Given the description of an element on the screen output the (x, y) to click on. 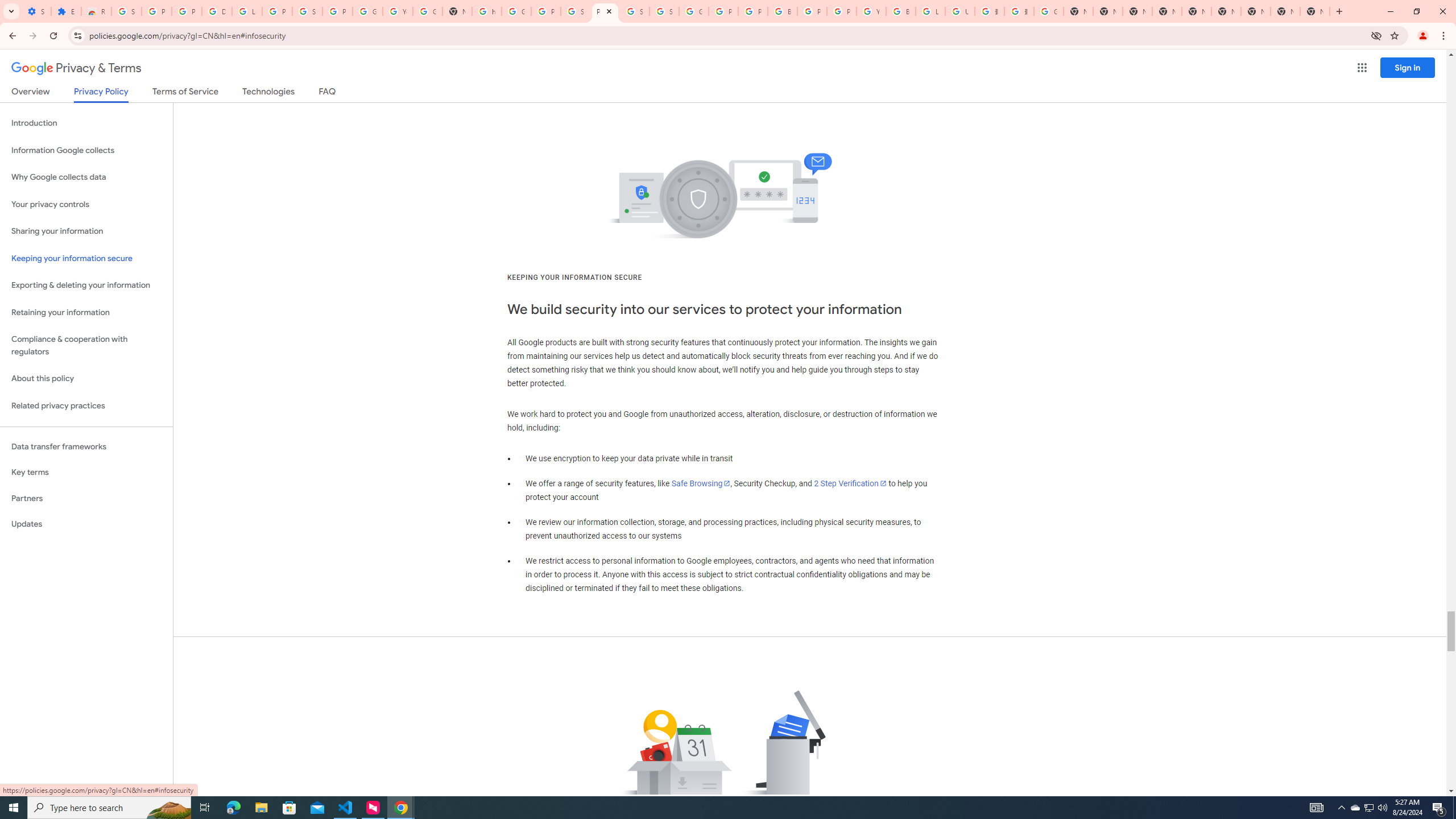
2 Step Verification (849, 483)
Settings - On startup (36, 11)
Reviews: Helix Fruit Jump Arcade Game (95, 11)
